Given the description of an element on the screen output the (x, y) to click on. 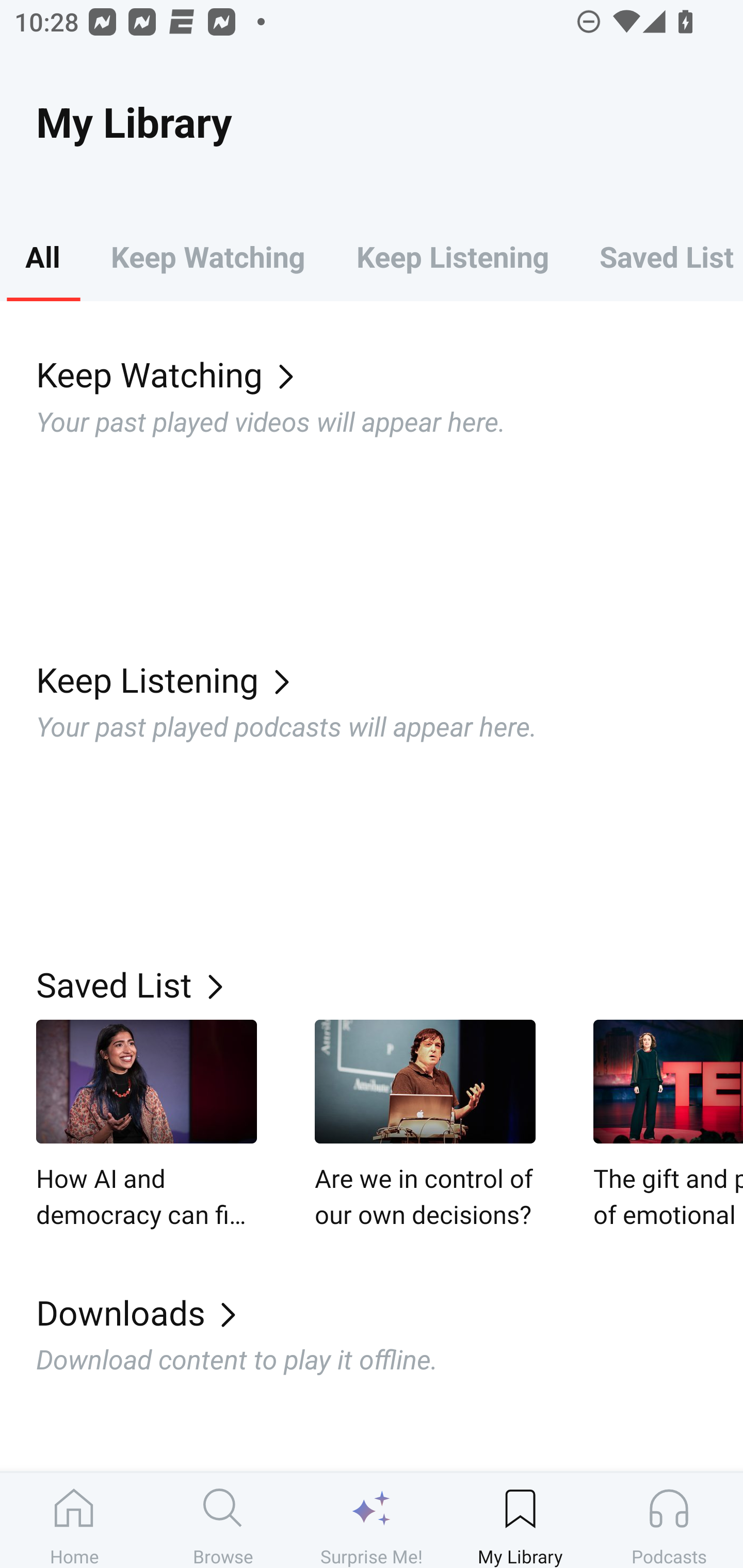
All (42, 256)
Keep Watching (207, 256)
Keep Listening (452, 256)
Saved List (658, 256)
Keep Watching (389, 373)
Keep Listening (389, 679)
Saved List (389, 983)
How AI and democracy can fix each other (146, 1125)
Are we in control of our own decisions? (425, 1125)
The gift and power of emotional courage (668, 1125)
Downloads (389, 1312)
Home (74, 1520)
Browse (222, 1520)
Surprise Me! (371, 1520)
My Library (519, 1520)
Podcasts (668, 1520)
